Given the description of an element on the screen output the (x, y) to click on. 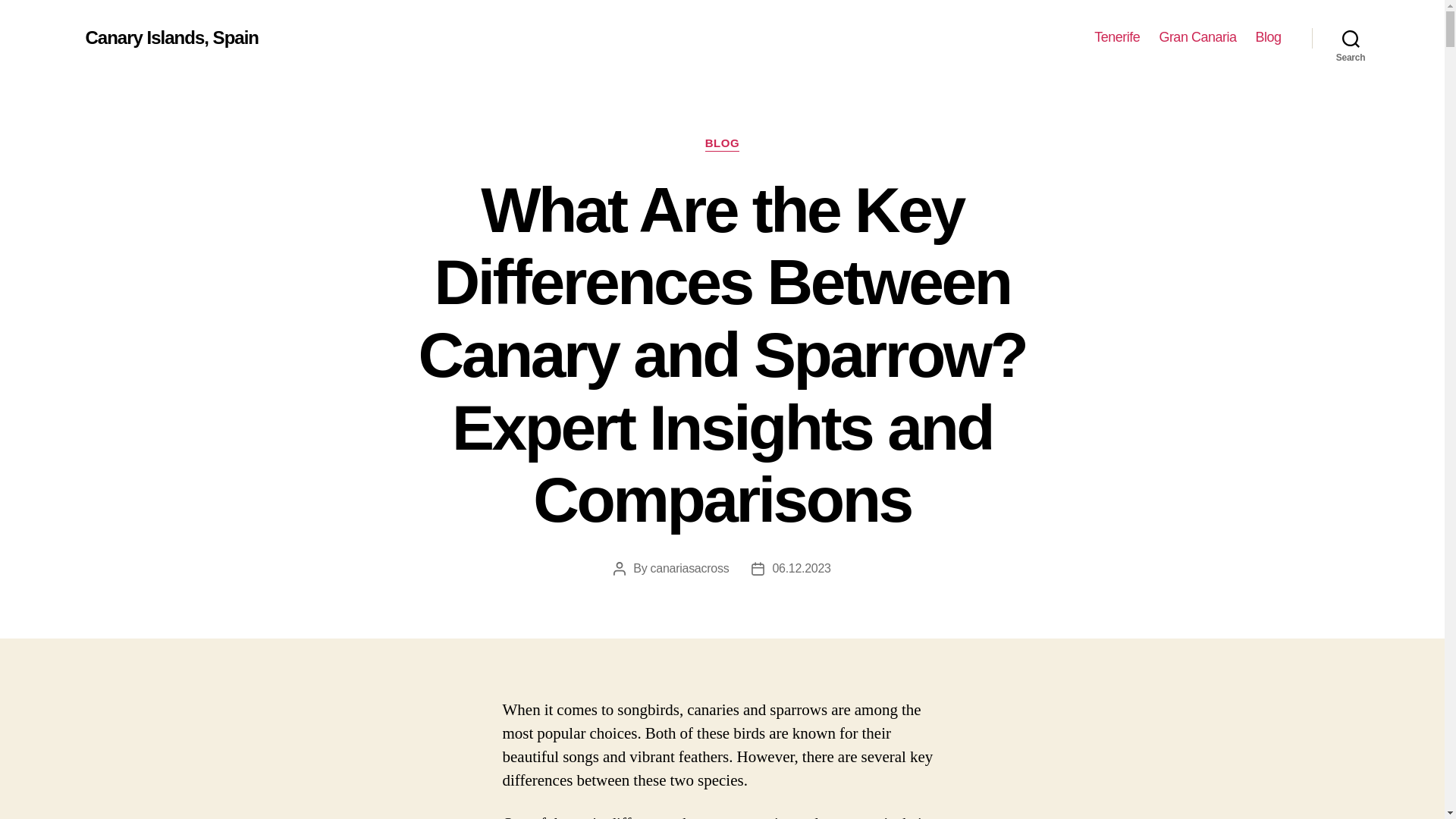
Search (1350, 37)
Tenerife (1117, 37)
Canary Islands, Spain (170, 37)
BLOG (721, 143)
canariasacross (689, 567)
Blog (1268, 37)
Gran Canaria (1197, 37)
06.12.2023 (800, 567)
